Given the description of an element on the screen output the (x, y) to click on. 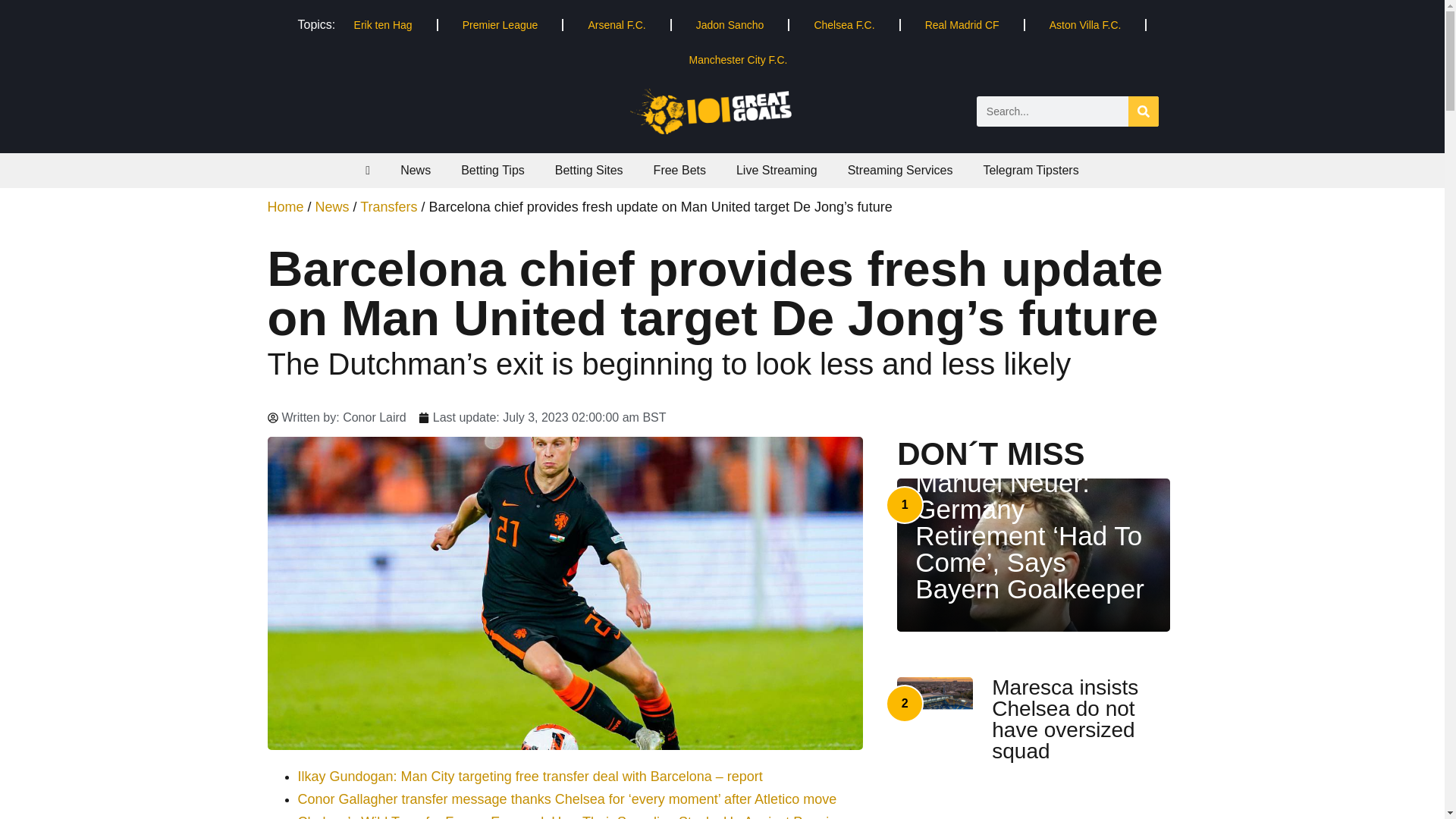
Arsenal F.C. (616, 24)
News (415, 170)
Erik ten Hag (382, 24)
Real Madrid CF (962, 24)
Premier League (500, 24)
Betting Tips (492, 170)
Aston Villa F.C. (1085, 24)
Manchester City F.C. (738, 59)
Chelsea F.C. (843, 24)
Jadon Sancho (730, 24)
